Given the description of an element on the screen output the (x, y) to click on. 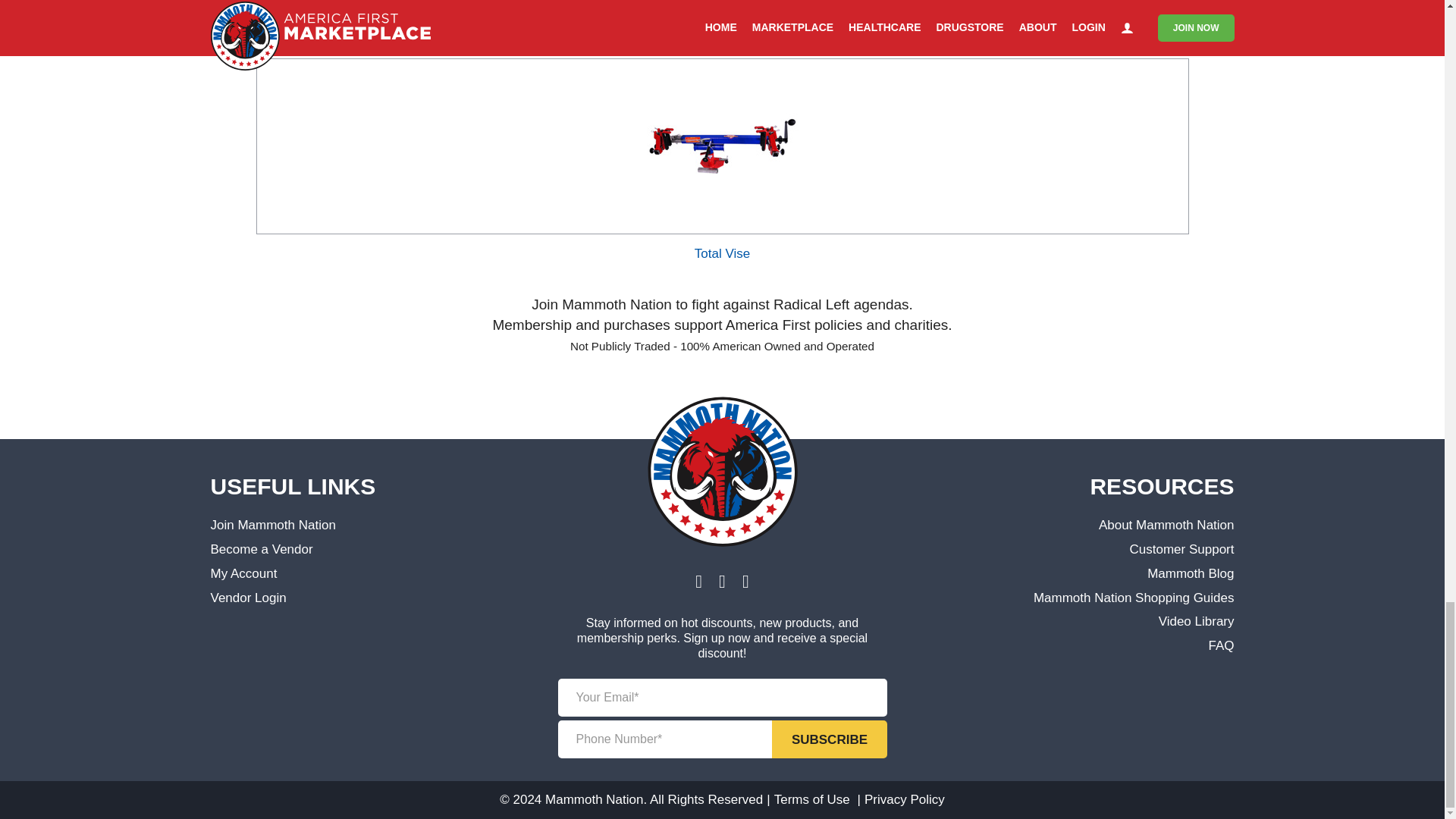
Join Mammoth Nation (273, 524)
Total Vise (721, 253)
SensGard (722, 38)
Vendor Login (248, 597)
My Account (244, 573)
Become a Vendor (262, 549)
